Given the description of an element on the screen output the (x, y) to click on. 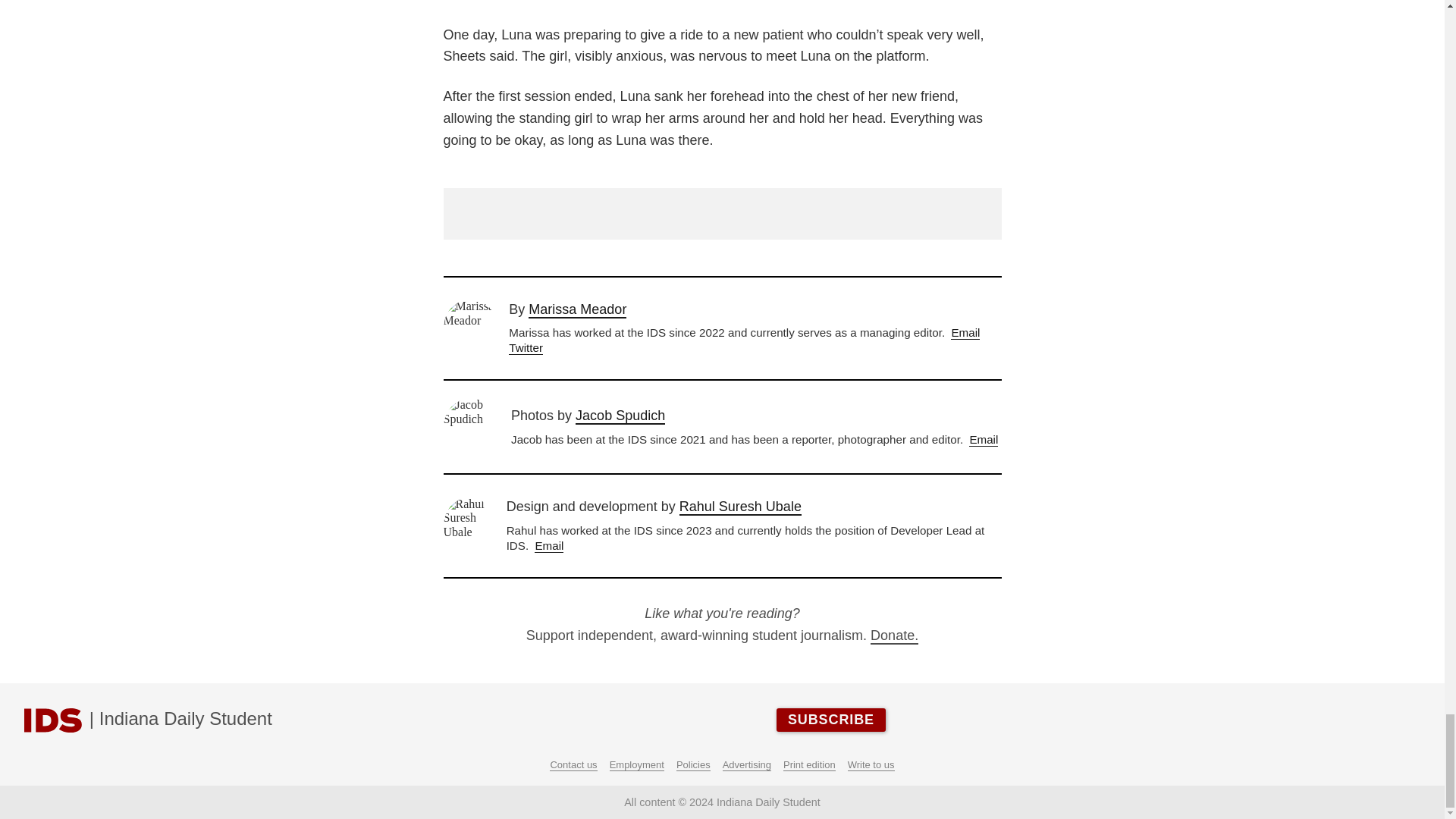
Email (964, 332)
Advertising (746, 765)
Employment (636, 765)
Donate. (894, 636)
Jacob Spudich (620, 416)
Email (548, 545)
Print edition (809, 765)
Policies (693, 765)
Marissa Meador (577, 310)
SUBSCRIBE (830, 720)
